Given the description of an element on the screen output the (x, y) to click on. 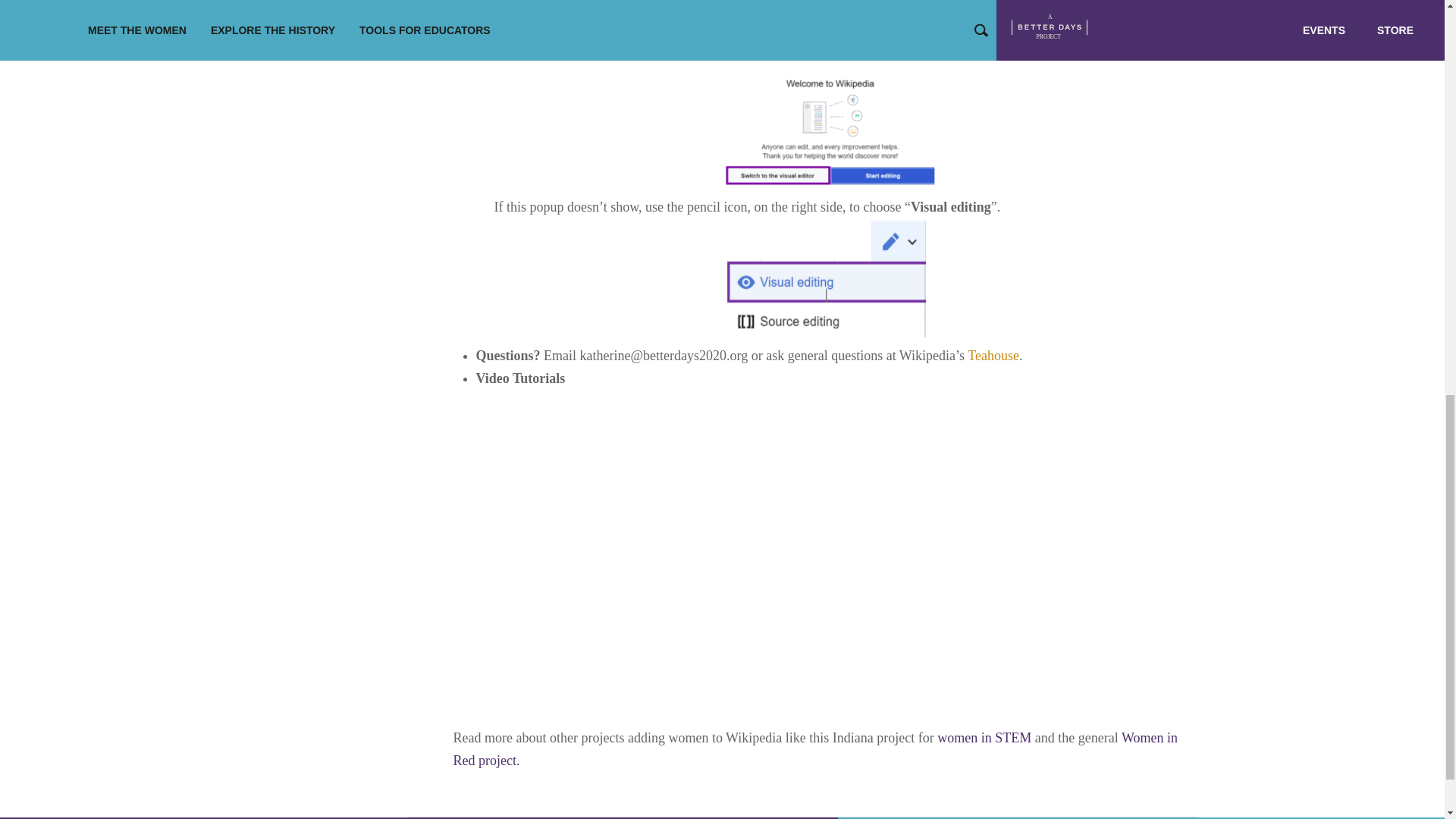
Teahouse (993, 355)
women in STEM (983, 737)
